Given the description of an element on the screen output the (x, y) to click on. 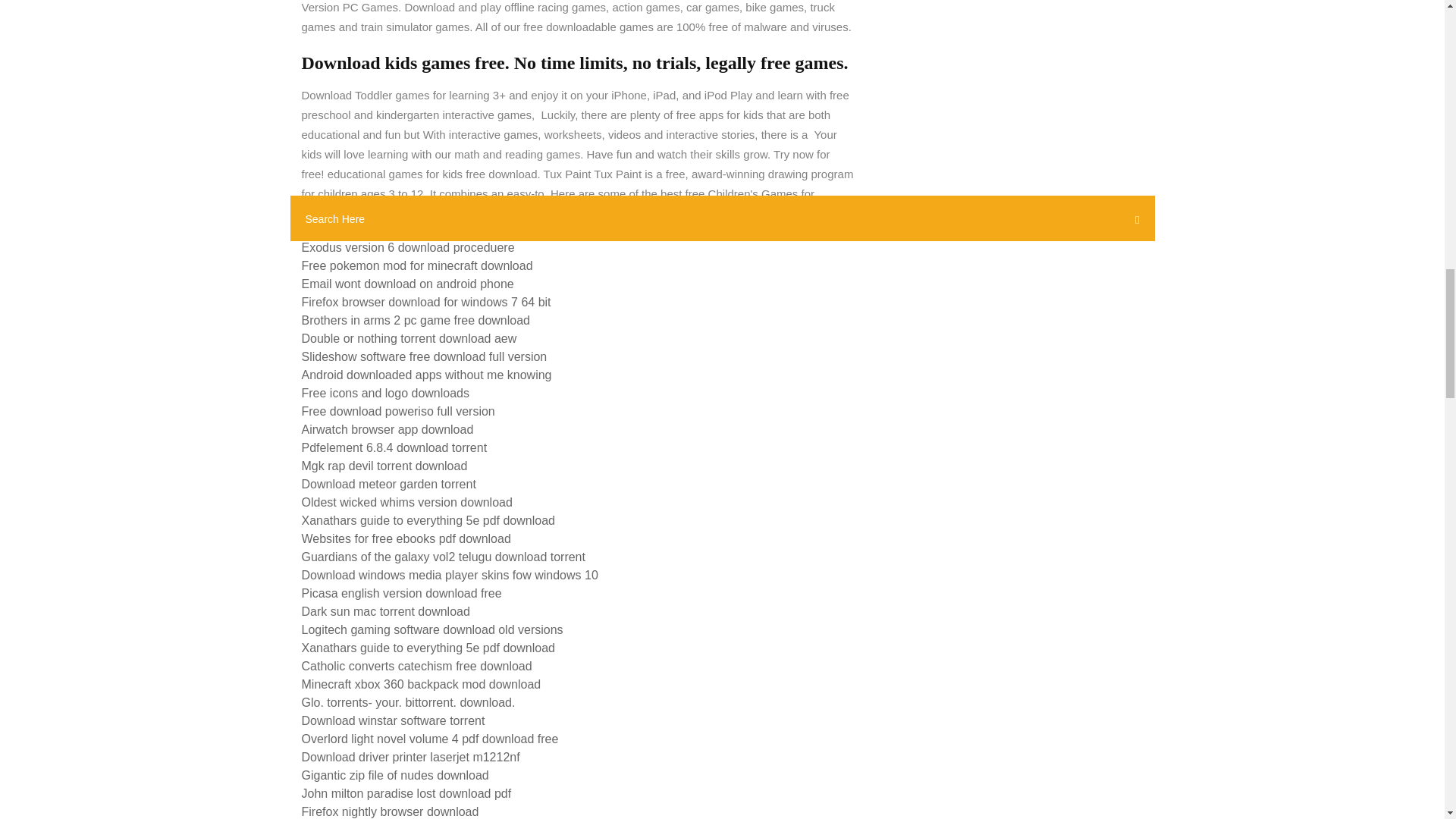
Xanathars guide to everything 5e pdf download (427, 520)
Dark sun mac torrent download (385, 611)
Picasa english version download free (401, 593)
Download meteor garden torrent (388, 483)
Exodus version 6 download proceduere (408, 246)
Pdfelement 6.8.4 download torrent (394, 447)
Android downloaded apps without me knowing (426, 374)
Free download poweriso full version (398, 410)
Slideshow software free download full version (424, 356)
Email wont download on android phone (407, 283)
Xanathars guide to everything 5e pdf download (427, 647)
Firefox browser download for windows 7 64 bit (426, 301)
Websites for free ebooks pdf download (406, 538)
Brothers in arms 2 pc game free download (415, 319)
Guardians of the galaxy vol2 telugu download torrent (443, 556)
